Given the description of an element on the screen output the (x, y) to click on. 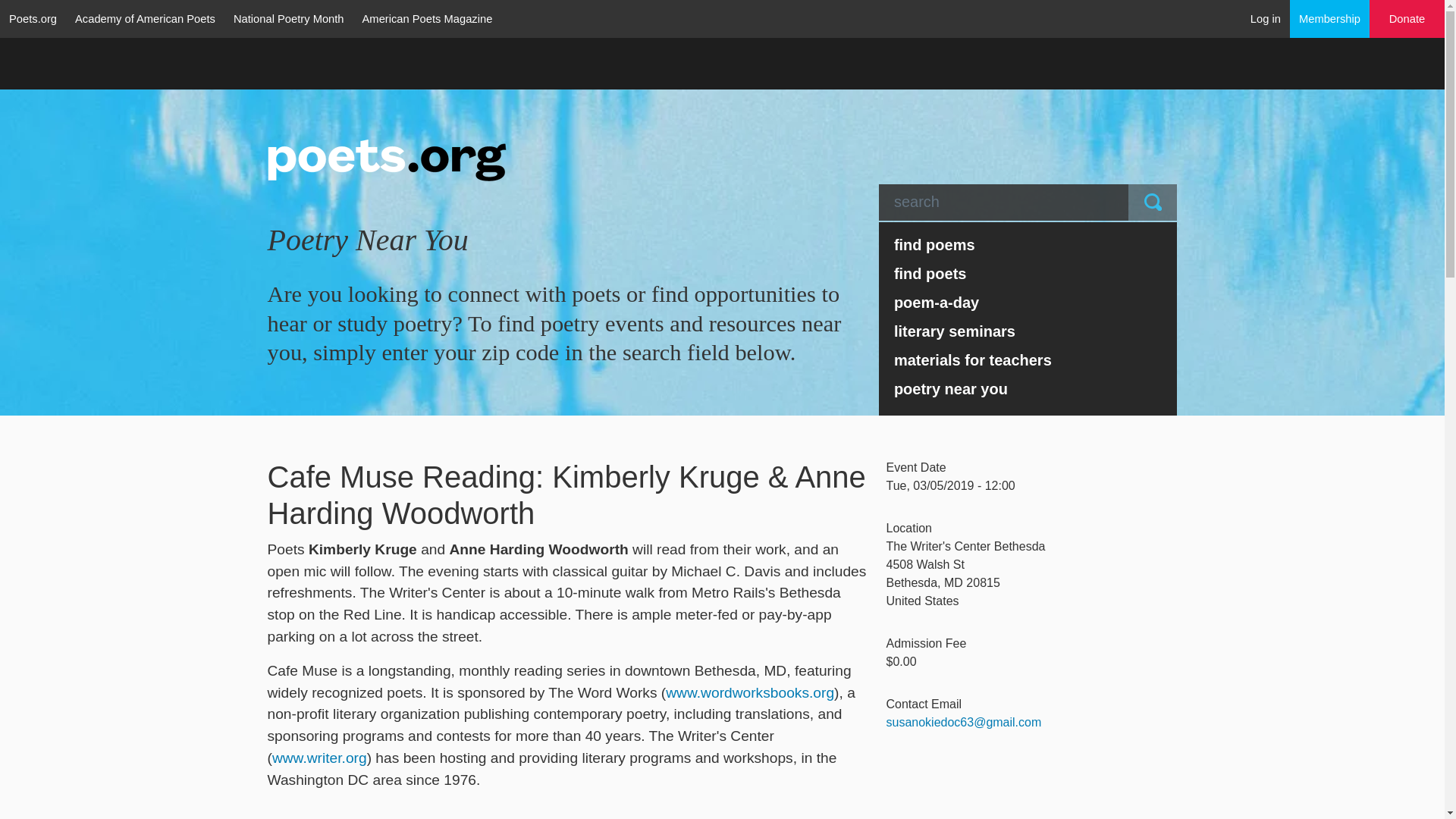
Donate (1407, 18)
materials for teachers (1028, 359)
materials for teachers (1028, 359)
find poets (1028, 273)
American Poets Magazine (427, 18)
literary seminars (1028, 330)
poetry near you (1028, 388)
National Poetry Month (288, 18)
Become a member of the Academy of American Poets (1330, 18)
poem-a-day (1028, 302)
find poems (1028, 244)
Support the mission of the Academy of American Poets (1407, 18)
Log in (1265, 18)
poetry near you (1028, 388)
literary seminars (1028, 330)
